Given the description of an element on the screen output the (x, y) to click on. 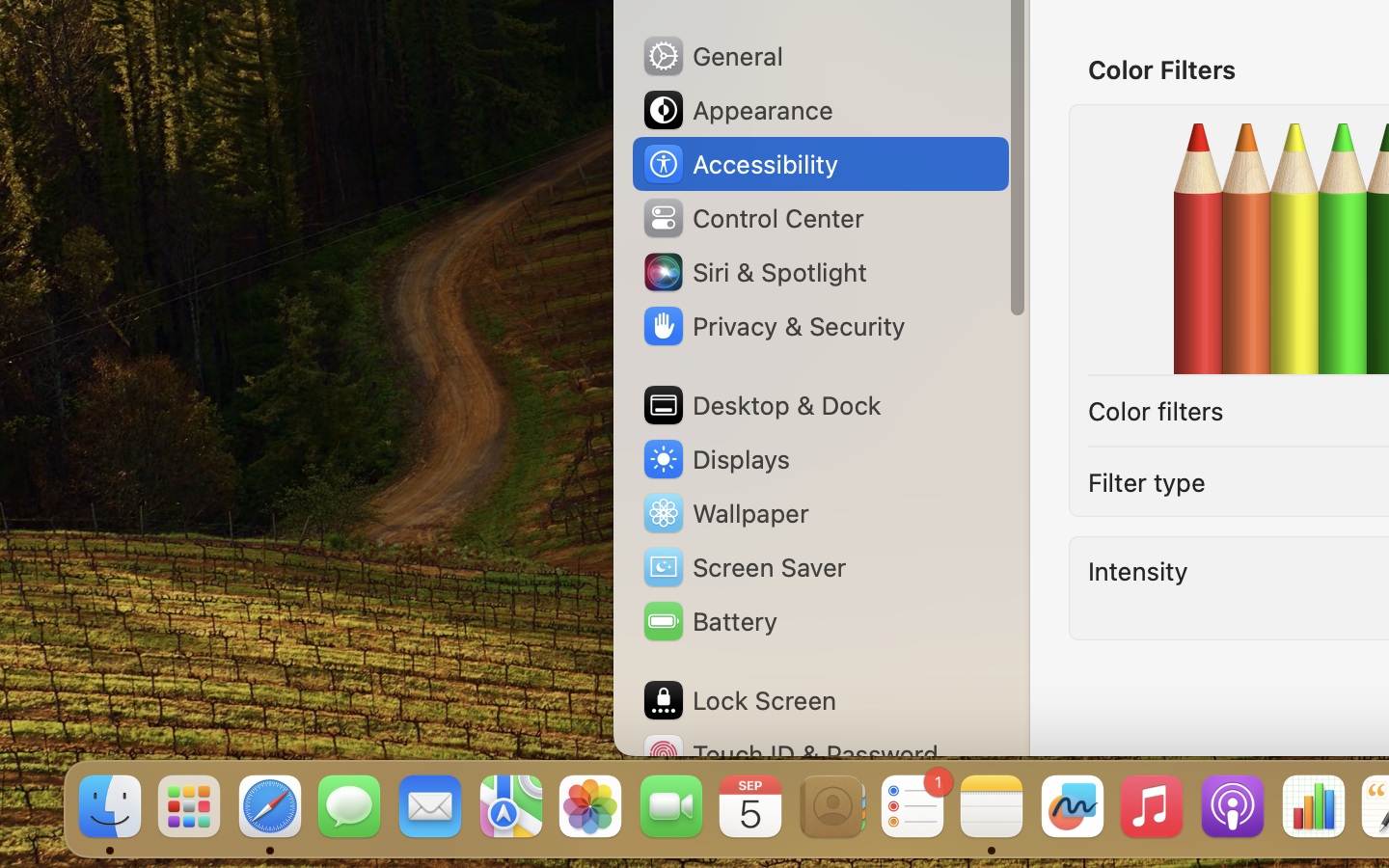
Siri & Spotlight Element type: AXStaticText (753, 271)
Control Center Element type: AXStaticText (752, 217)
Color filters Element type: AXStaticText (1155, 410)
Filter type Element type: AXStaticText (1146, 481)
Appearance Element type: AXStaticText (736, 109)
